Given the description of an element on the screen output the (x, y) to click on. 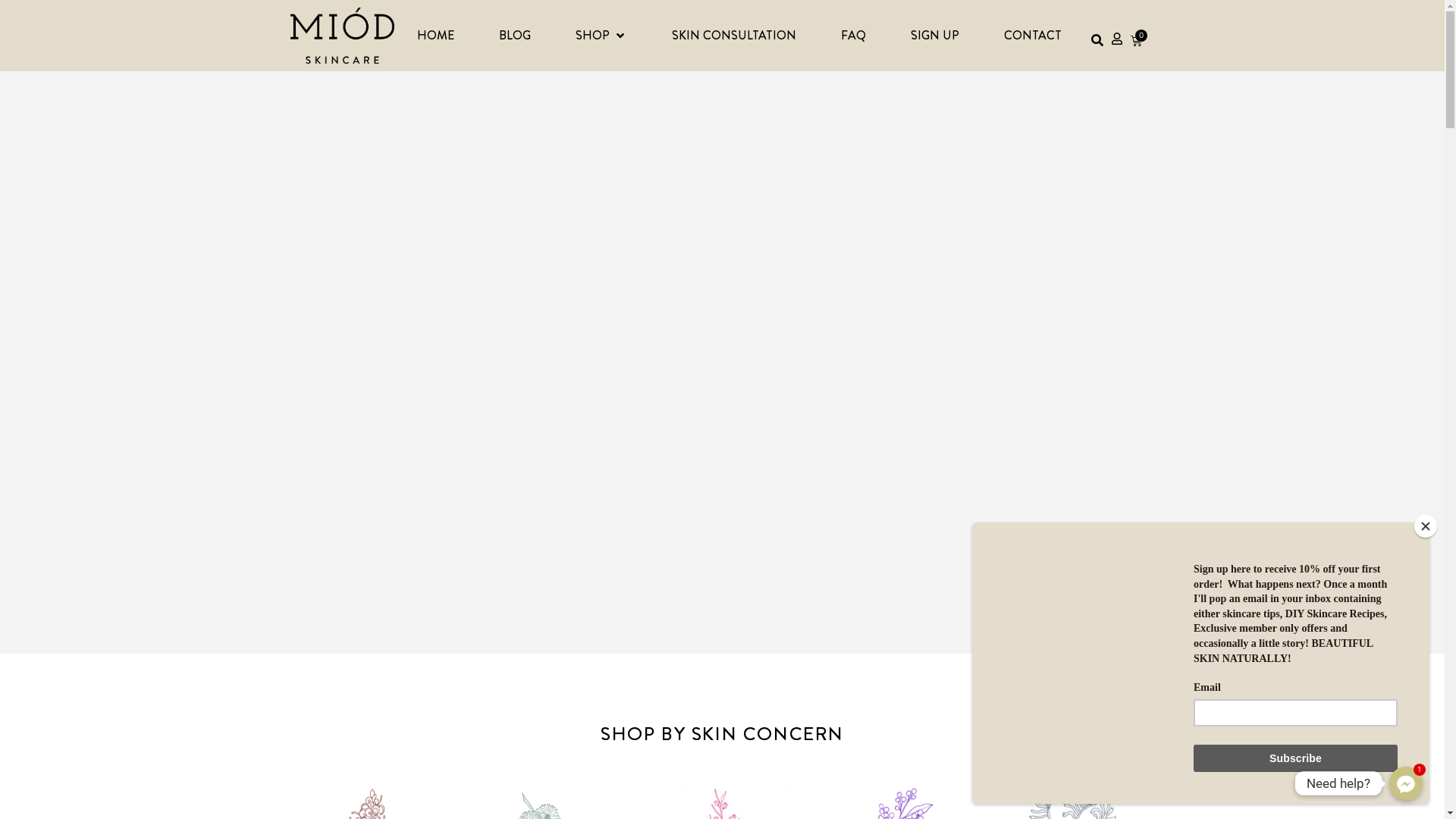
0 Element type: text (1136, 40)
SKIN CONSULTATION Element type: text (733, 35)
SHOP Element type: text (592, 35)
SIGN UP Element type: text (934, 35)
HOME Element type: text (435, 35)
1
Need help? Element type: text (1405, 783)
CONTACT Element type: text (1032, 35)
FAQ Element type: text (853, 35)
BLOG Element type: text (514, 35)
